Given the description of an element on the screen output the (x, y) to click on. 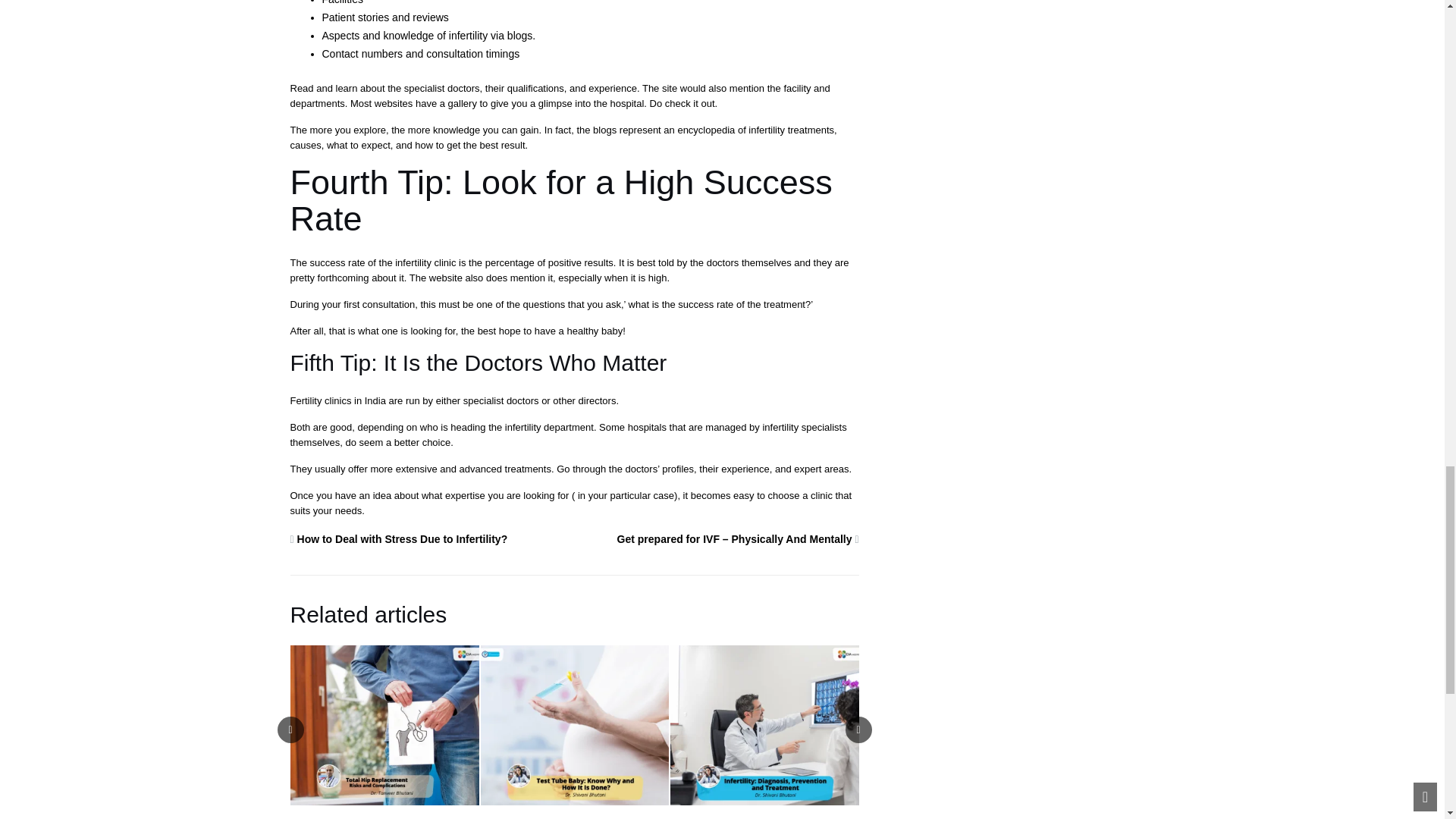
How to Deal with Stress Due to Infertility? (402, 539)
